Given the description of an element on the screen output the (x, y) to click on. 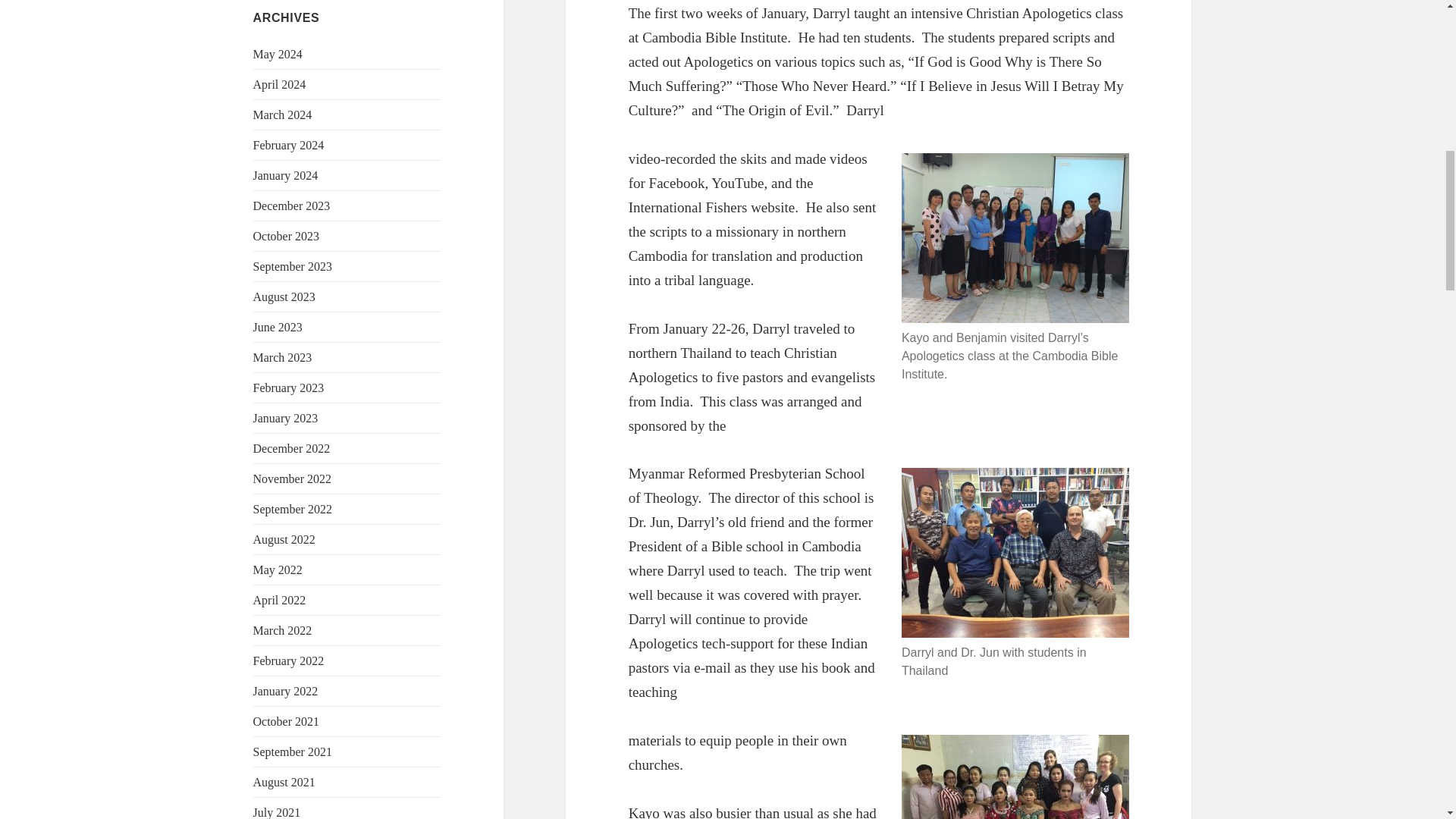
December 2022 (291, 448)
February 2023 (288, 387)
November 2022 (292, 478)
January 2022 (285, 690)
July 2021 (277, 812)
August 2021 (284, 781)
April 2024 (279, 83)
September 2023 (292, 266)
June 2023 (277, 327)
September 2021 (292, 751)
February 2024 (288, 144)
April 2022 (279, 599)
February 2022 (288, 660)
January 2024 (285, 174)
August 2023 (284, 296)
